Given the description of an element on the screen output the (x, y) to click on. 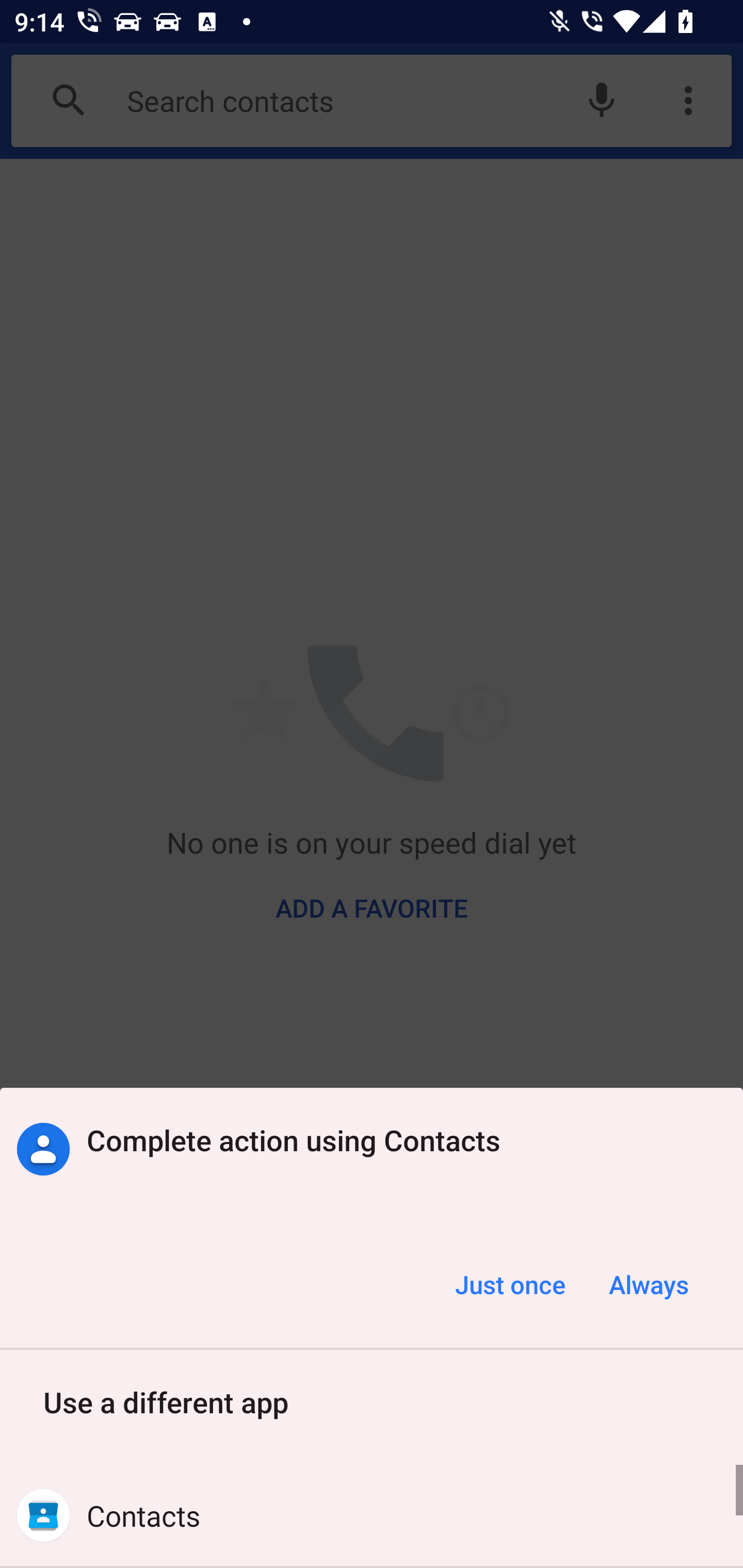
Just once (509, 1283)
Always (648, 1283)
Contacts (371, 1515)
